Given the description of an element on the screen output the (x, y) to click on. 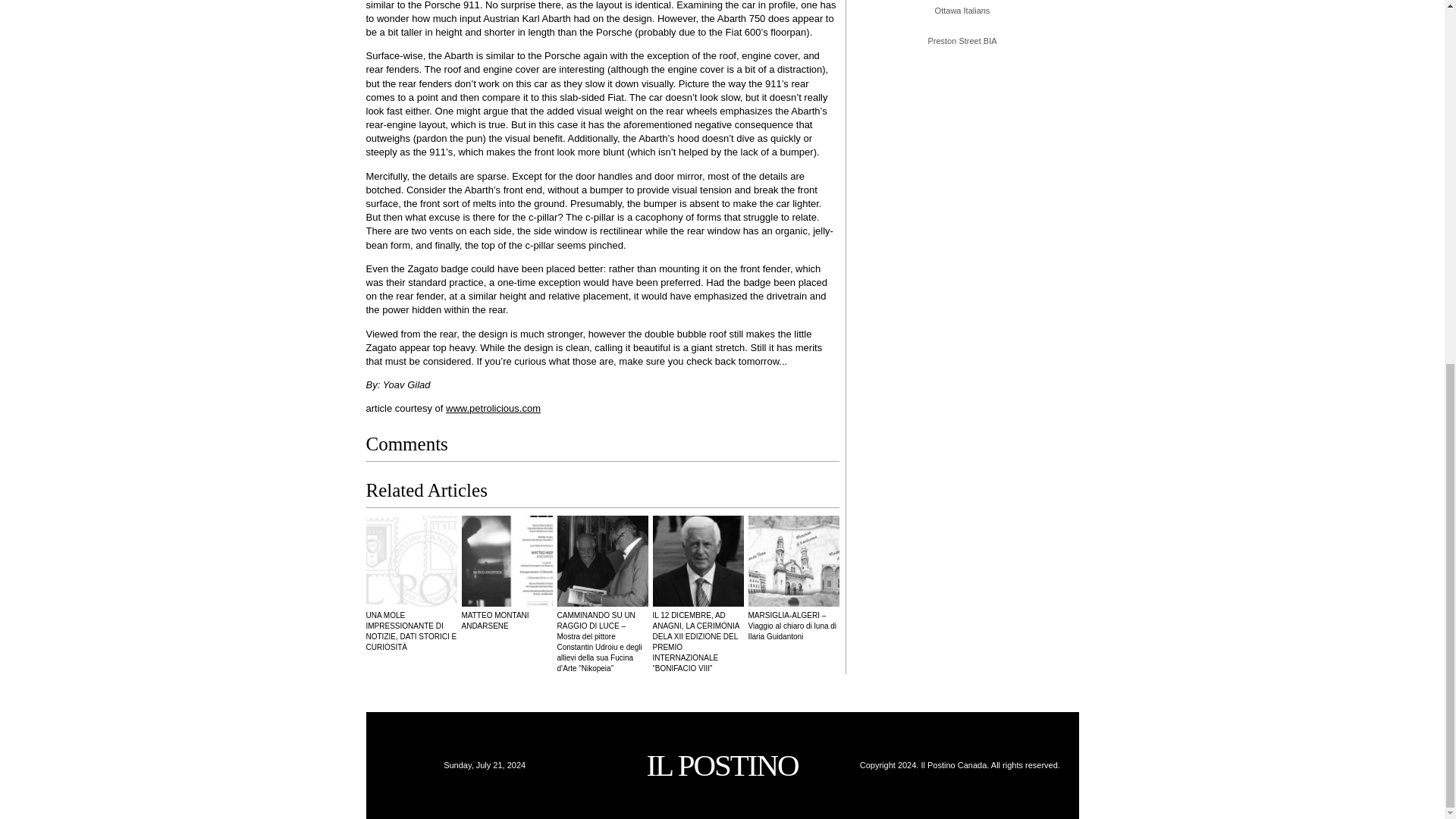
IL POSTINO (721, 764)
www.petrolicious.com (492, 408)
Preston Street BIA (962, 41)
Ottawa Italians (962, 10)
